Given the description of an element on the screen output the (x, y) to click on. 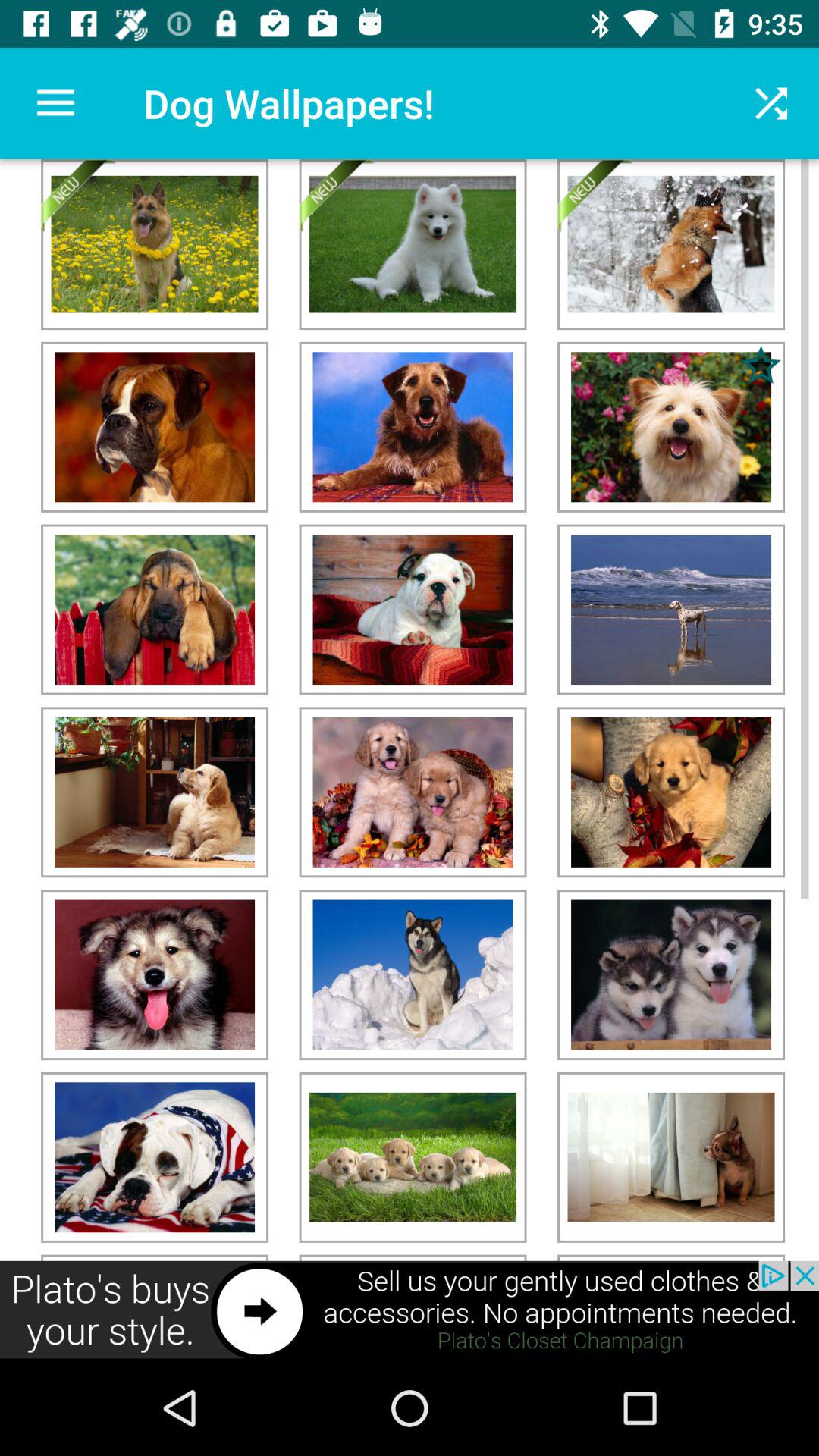
advertisement (409, 1310)
